Given the description of an element on the screen output the (x, y) to click on. 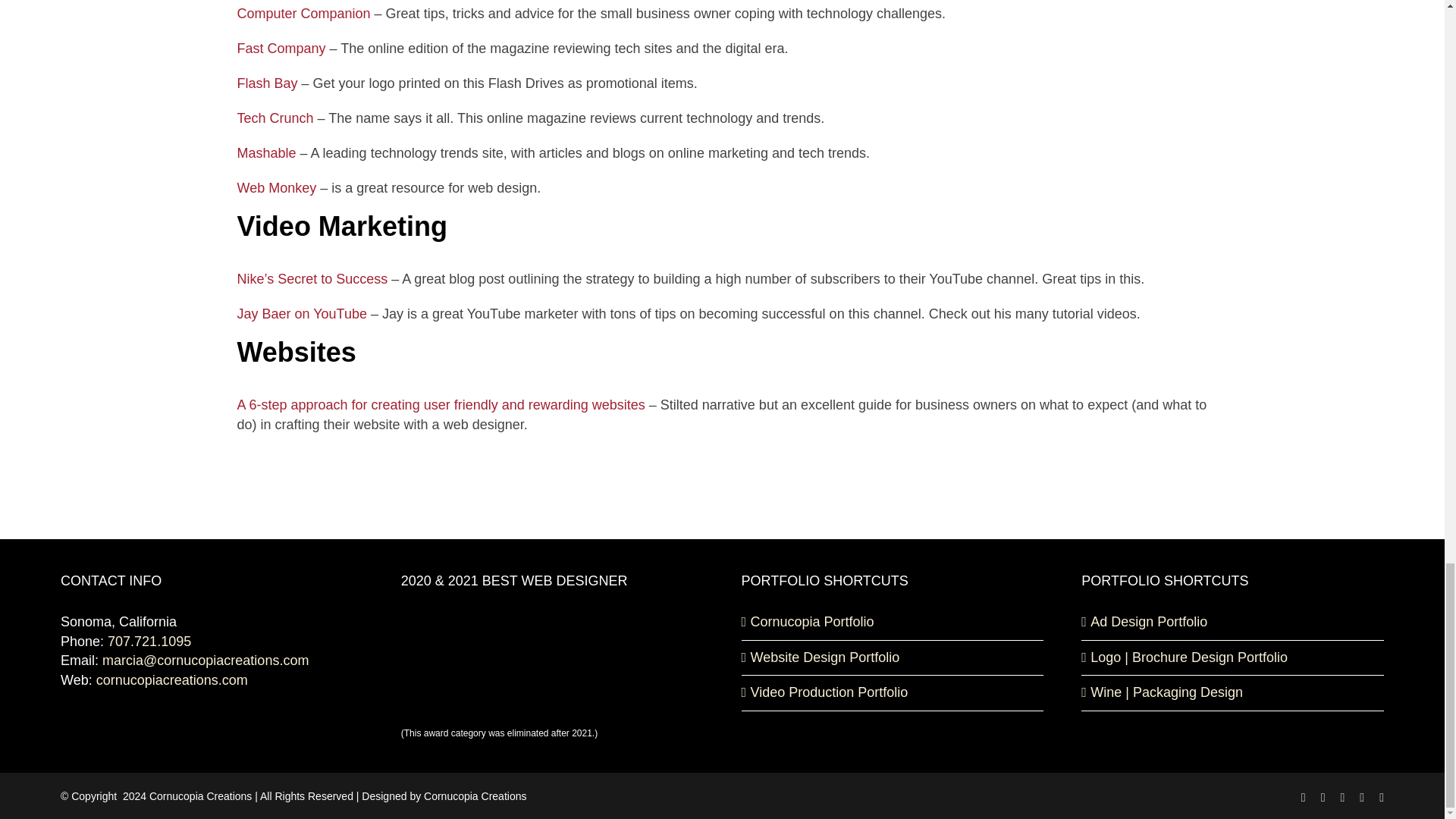
Facebook (1303, 797)
LinkedIn (1361, 797)
Email (1381, 797)
X (1322, 797)
Pinterest (1341, 797)
Leaf-Ball-Ornament (721, 489)
